Given the description of an element on the screen output the (x, y) to click on. 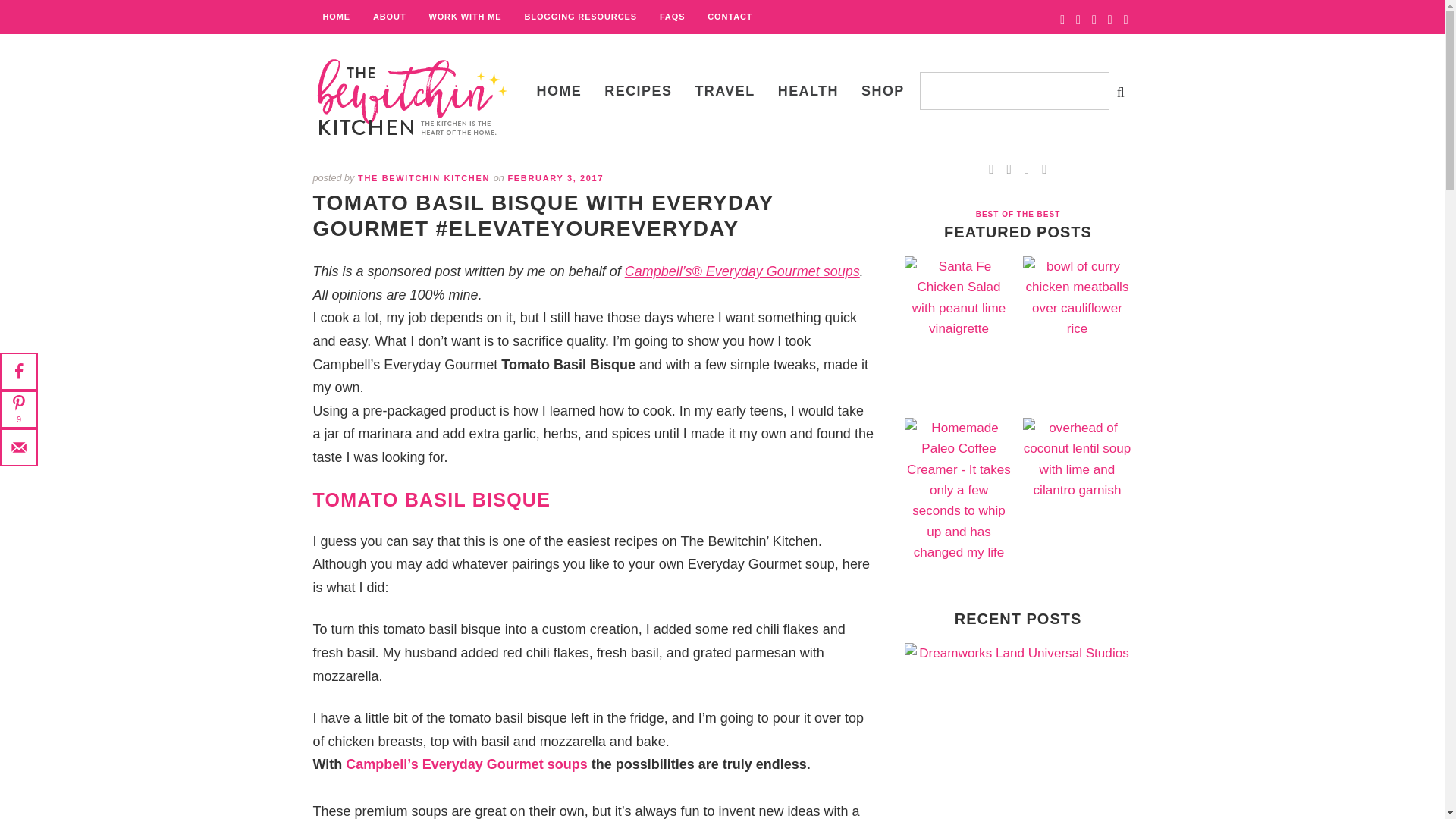
ABOUT (389, 17)
HOME (336, 17)
